Given the description of an element on the screen output the (x, y) to click on. 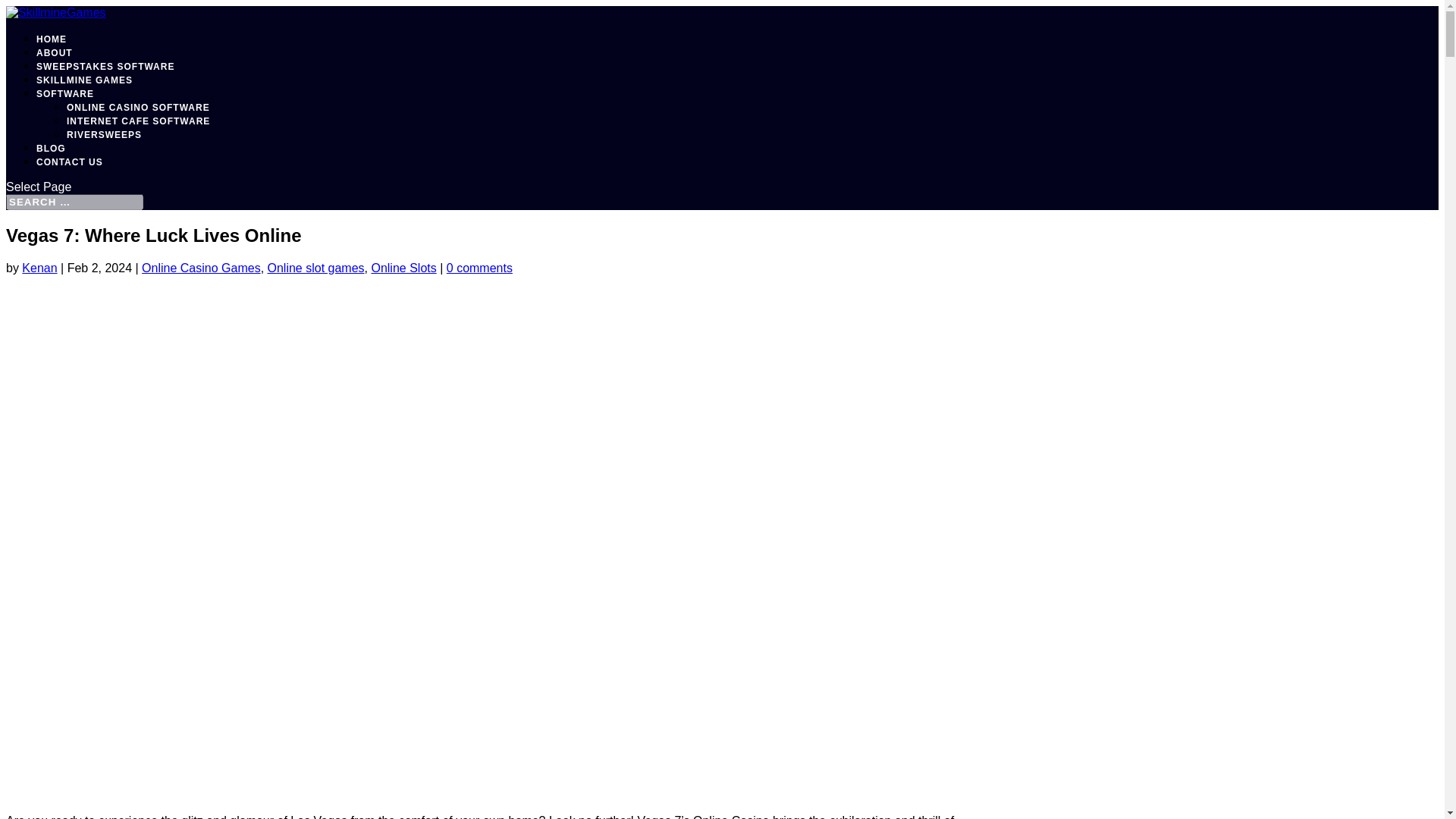
ONLINE CASINO SOFTWARE (137, 107)
Online slot games (316, 267)
Online Slots (403, 267)
Kenan (38, 267)
Posts by Kenan (38, 267)
ABOUT (54, 52)
0 comments (479, 267)
CONTACT US (69, 162)
RIVERSWEEPS (103, 134)
HOME (51, 39)
